Given the description of an element on the screen output the (x, y) to click on. 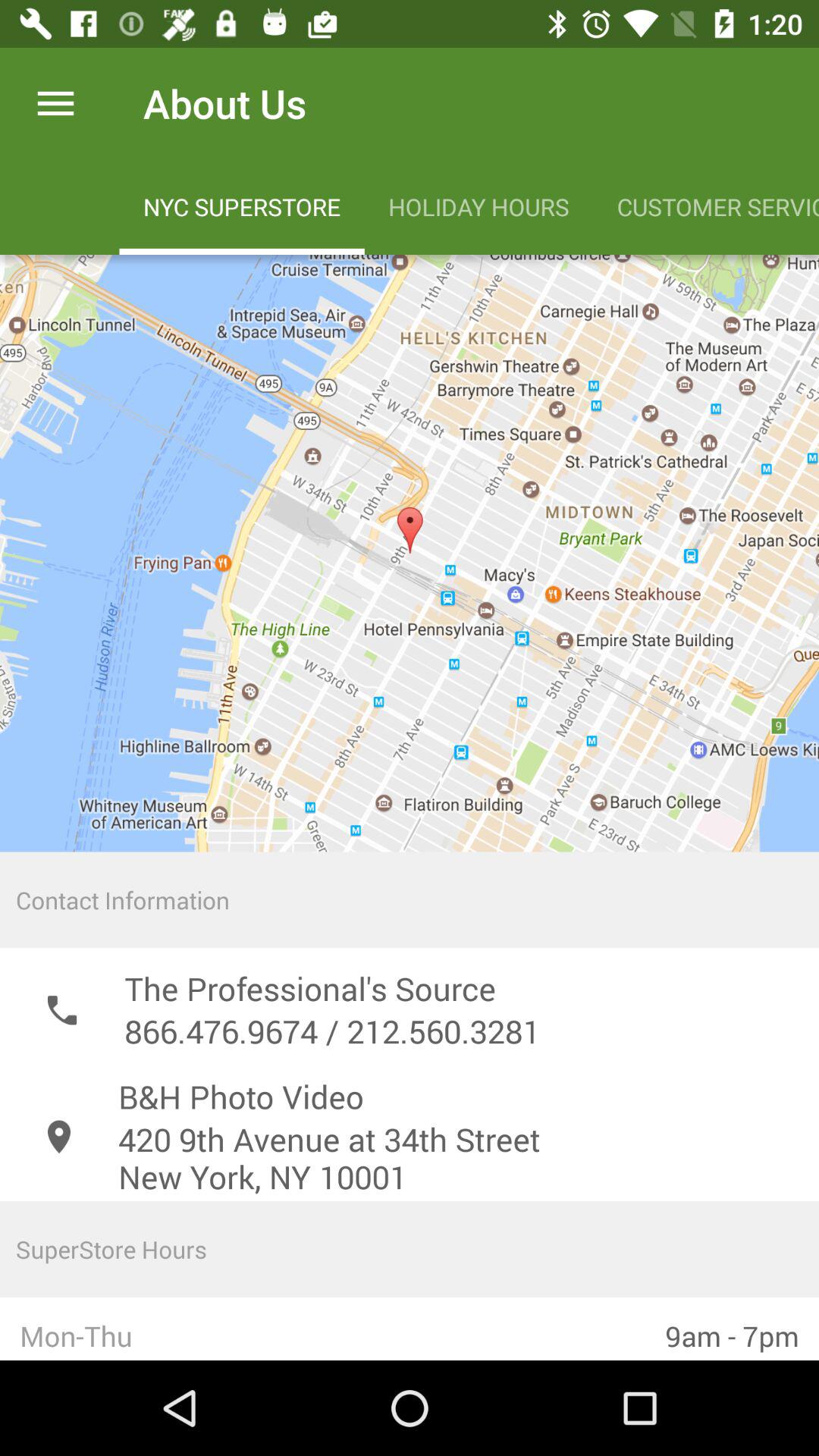
jump to mon-thu icon (322, 1328)
